Given the description of an element on the screen output the (x, y) to click on. 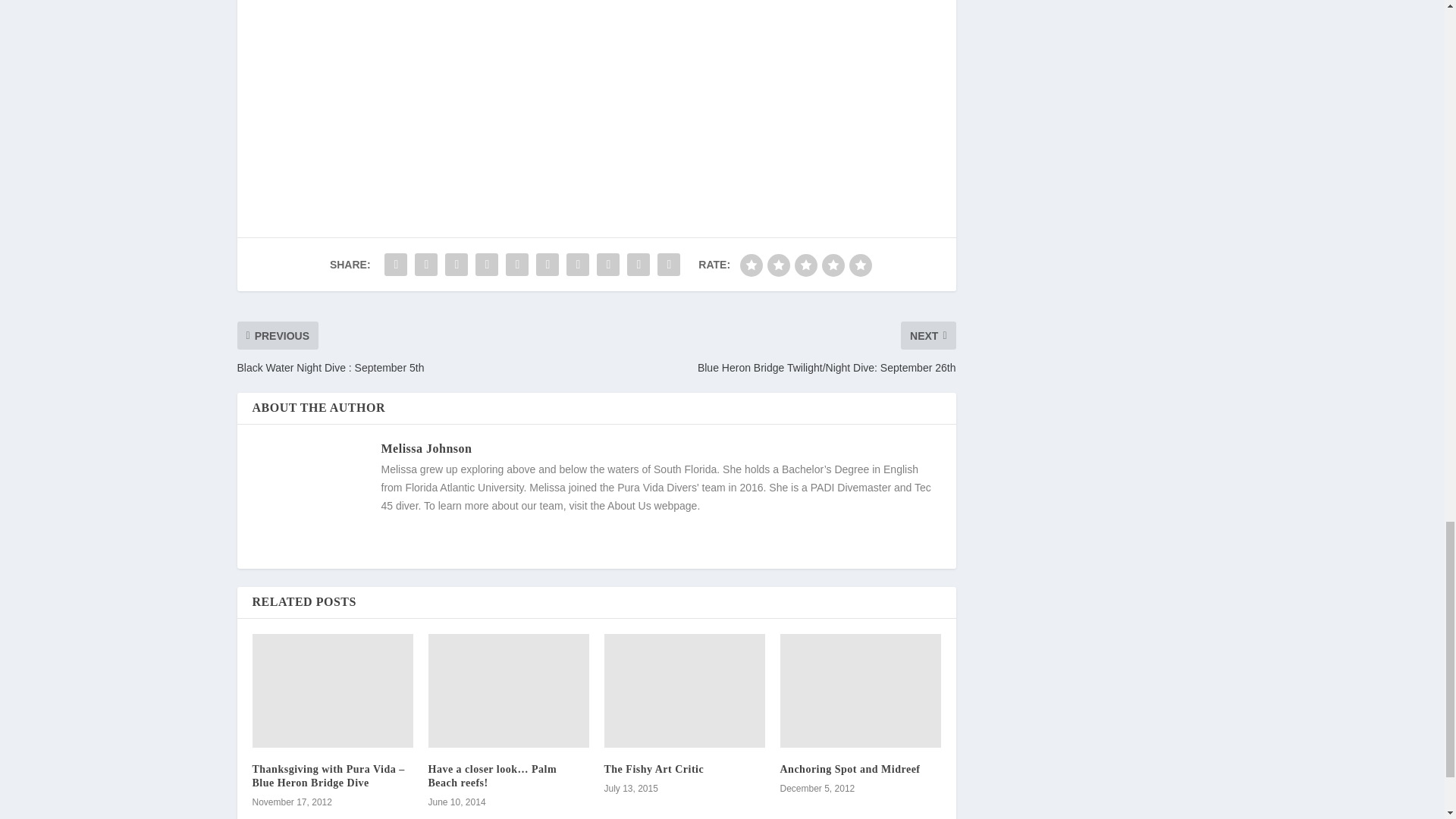
150819-123611-0067 (491, 20)
150819-122648-0062 (804, 20)
Share "Grouper Dives" via Twitter (425, 264)
150819-101806-0039 (673, 94)
150819-101739-0037 (831, 94)
150819-101820-0040 (518, 94)
Share "Grouper Dives" via Facebook (395, 264)
150819-103041-0049 (360, 94)
